Given the description of an element on the screen output the (x, y) to click on. 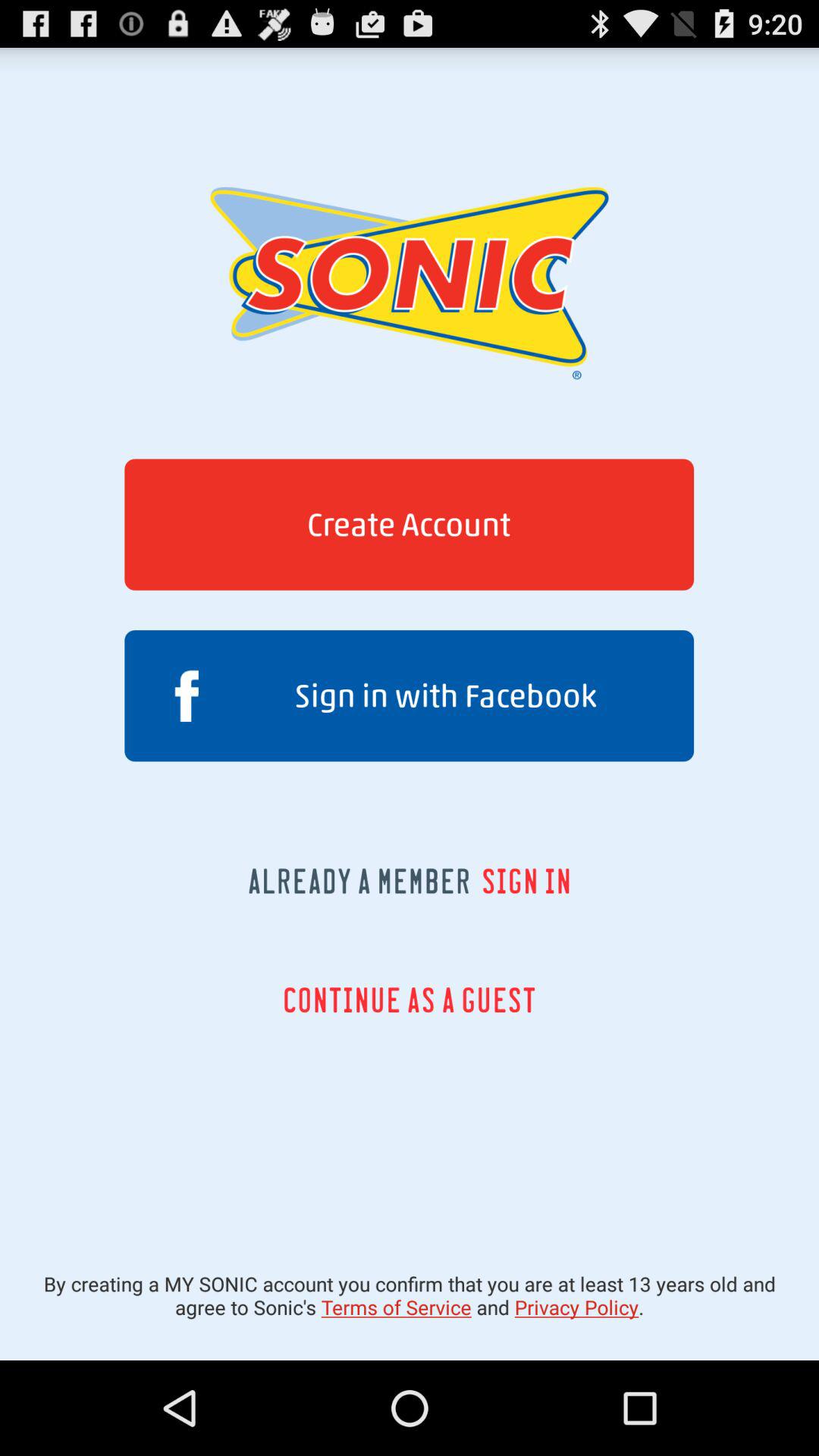
launch by creating a app (409, 1295)
